Given the description of an element on the screen output the (x, y) to click on. 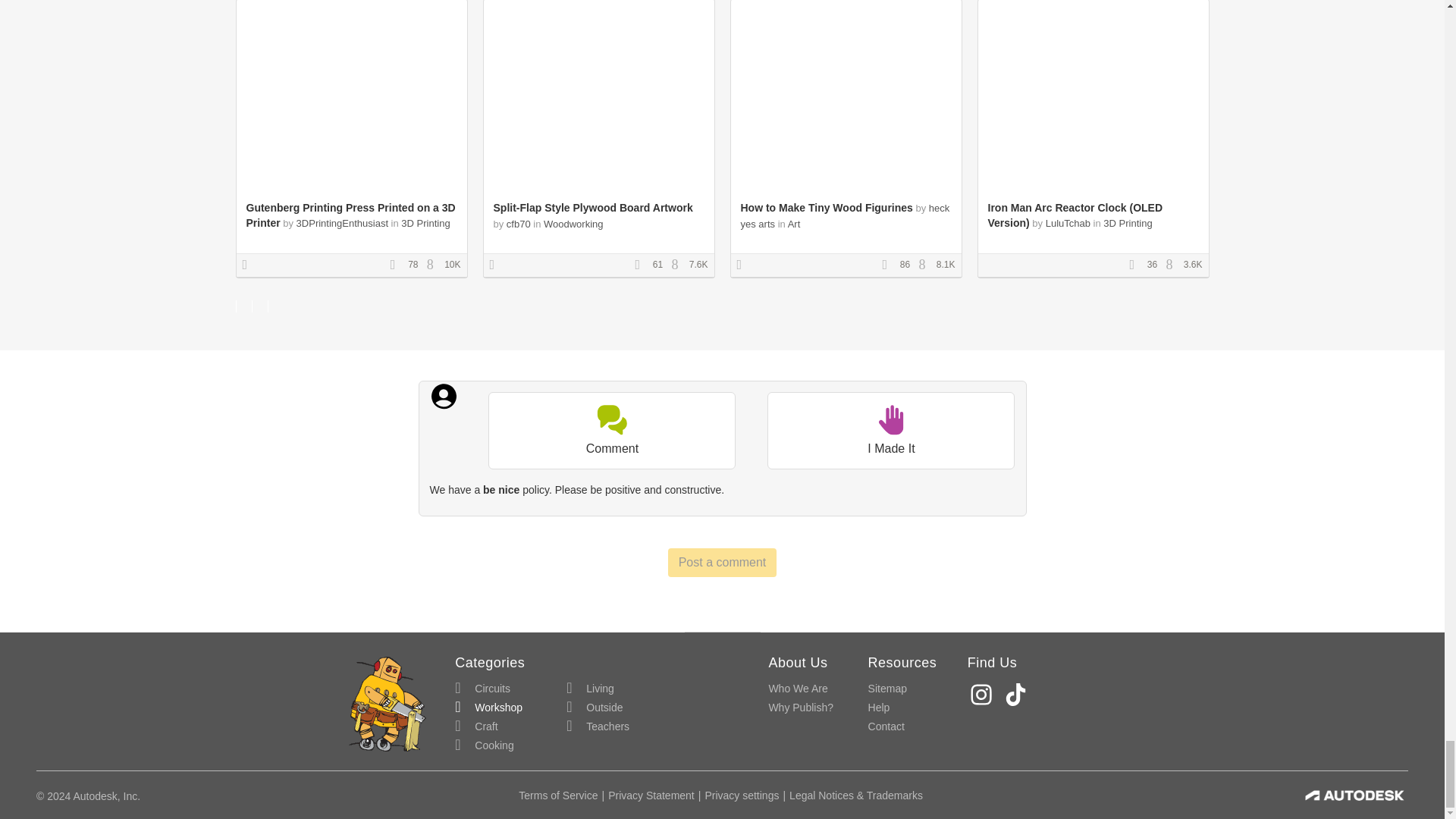
Woodworking (573, 224)
Favorites Count (398, 265)
Views Count (1173, 265)
TikTok (1018, 694)
Contest Winner (250, 265)
Gutenberg Printing Press Printed on a 3D Printer (350, 215)
Views Count (925, 265)
Instagram (983, 694)
Art (793, 224)
How to Make Tiny Wood Figurines (825, 207)
Split-Flap Style Plywood Board Artwork (593, 207)
3DPrintingEnthusiast (342, 223)
3D Printing (425, 223)
heck yes arts (844, 216)
Contest Winner (497, 265)
